Given the description of an element on the screen output the (x, y) to click on. 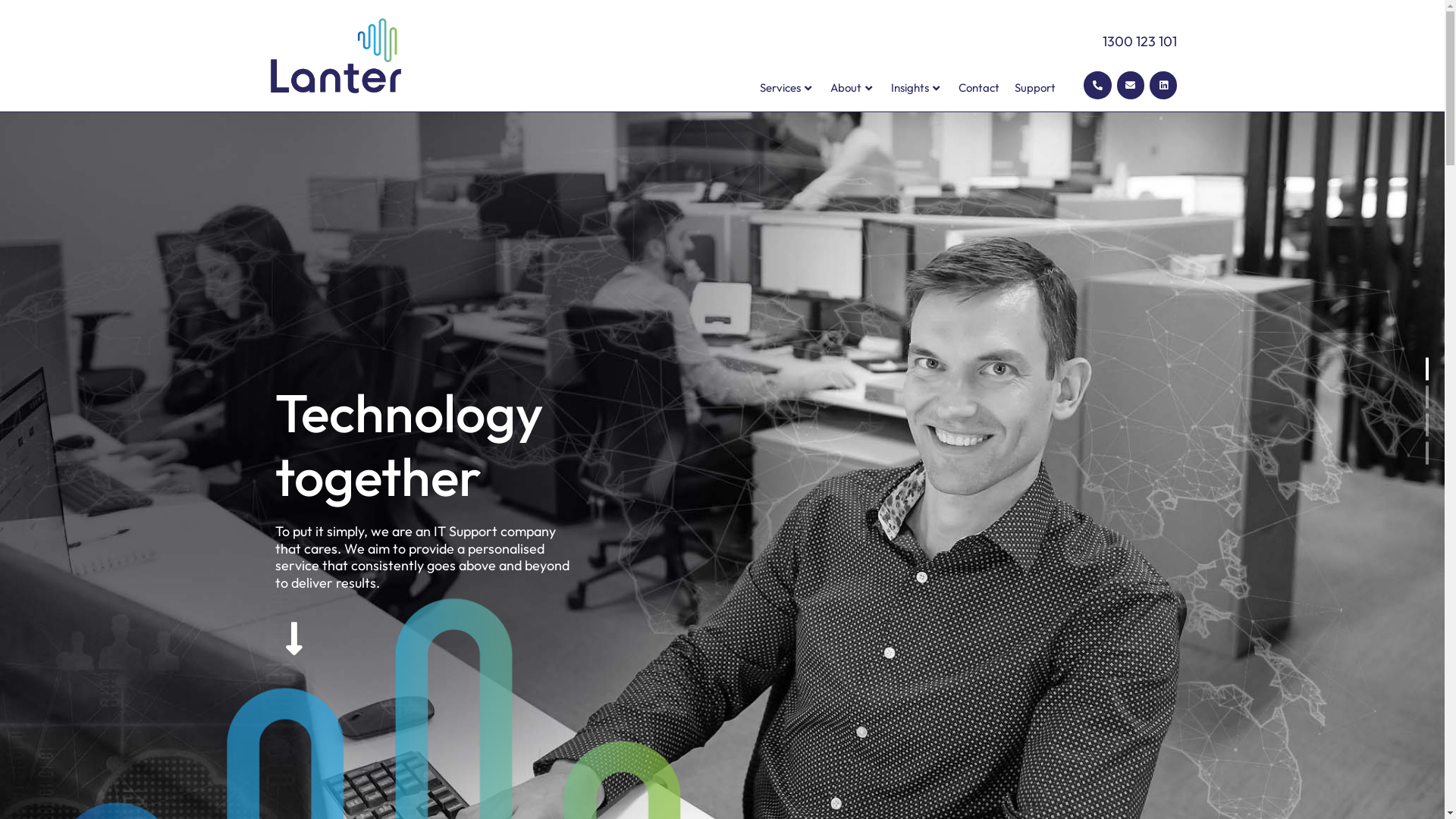
Contact Element type: text (978, 87)
Support Element type: text (1035, 87)
Services Element type: text (787, 87)
Phone-alt Element type: text (1096, 84)
About Element type: text (852, 87)
Insights Element type: text (916, 87)
Linkedin Element type: text (1162, 84)
1300 123 101 Element type: text (1139, 41)
Envelope Element type: text (1130, 84)
